Given the description of an element on the screen output the (x, y) to click on. 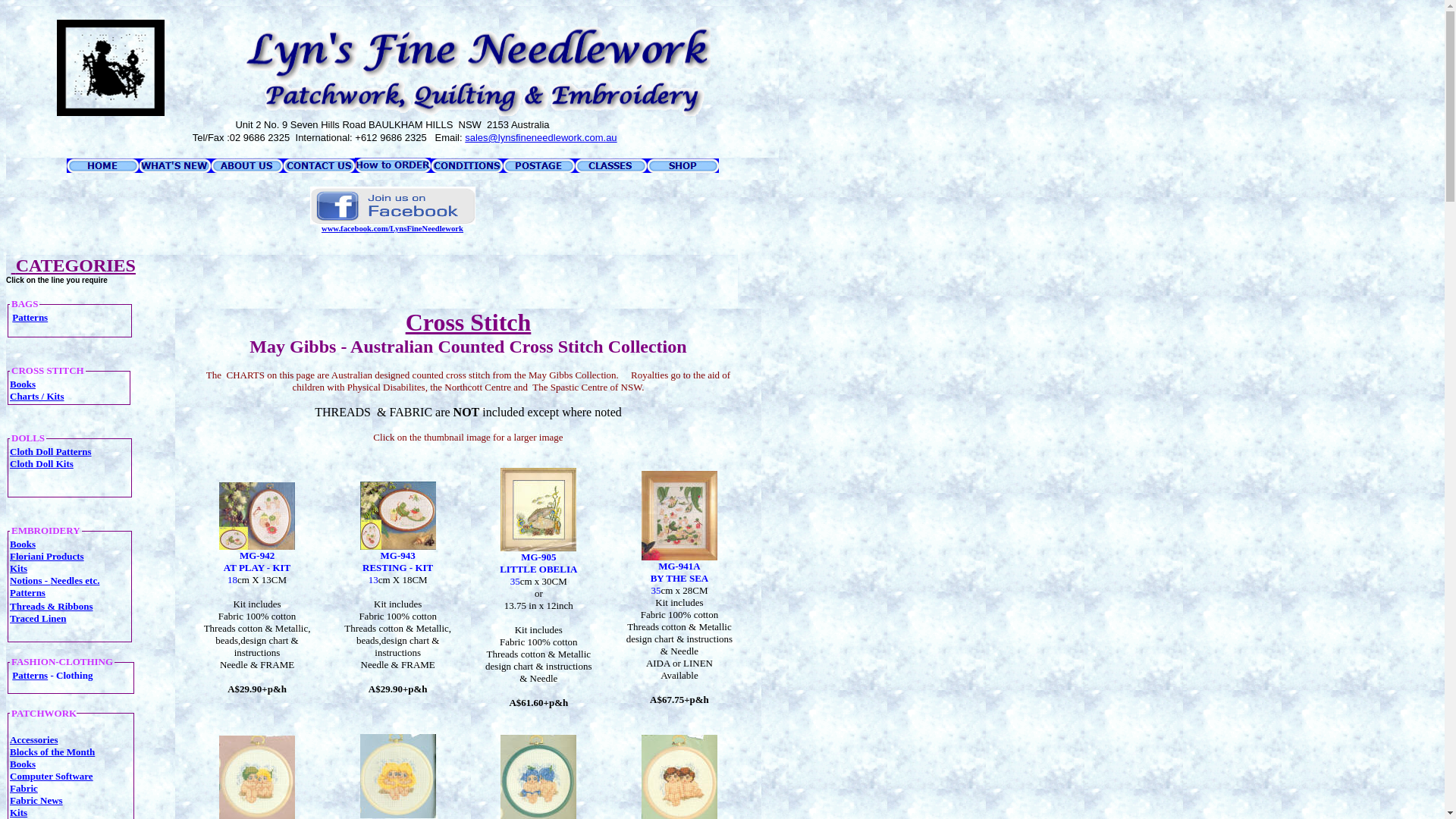
Fabric News Element type: text (35, 800)
sales@lynsfineneedlework.com.au Element type: text (540, 137)
Cloth Doll Patterns Element type: text (50, 451)
Blocks of the Month Element type: text (51, 751)
Accessories Element type: text (33, 739)
Floriani Products Element type: text (46, 555)
Charts / Kits Element type: text (36, 395)
Books Element type: text (22, 763)
Fabric Element type: text (23, 787)
Needles etc. Element type: text (74, 580)
Cloth Doll Kits Element type: text (41, 463)
Books Element type: text (22, 543)
Patterns Element type: text (29, 317)
Kits Element type: text (18, 568)
Threads & Ribbons Element type: text (51, 605)
www.facebook.com/LynsFineNeedlework Element type: text (392, 228)
Books Element type: text (22, 383)
Patterns Element type: text (29, 674)
Patterns Element type: text (27, 592)
Traced Linen Element type: text (37, 618)
Notions - Element type: text (29, 580)
Kits Element type: text (18, 812)
Computer Software Element type: text (51, 775)
